Given the description of an element on the screen output the (x, y) to click on. 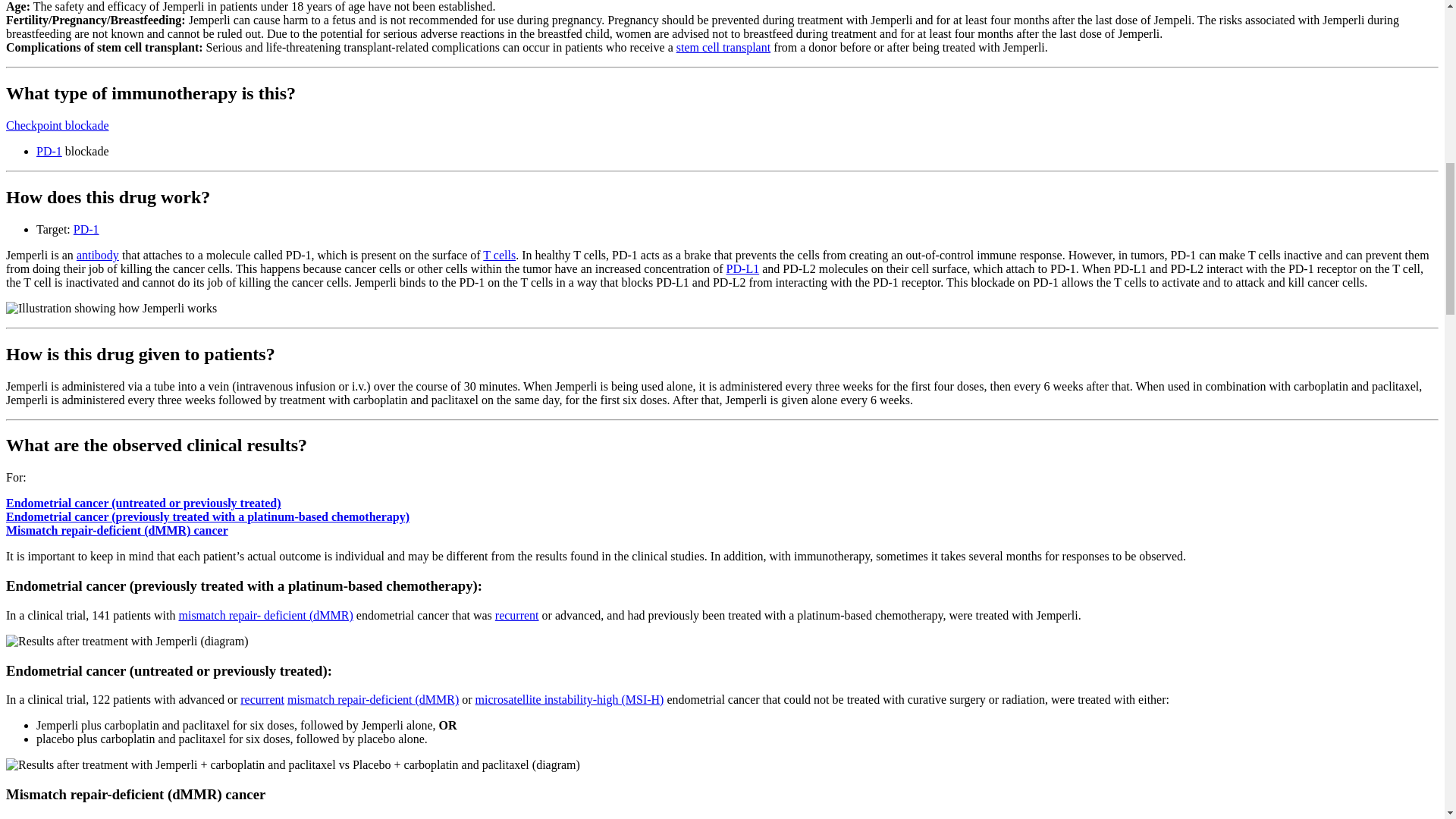
PD-L1 (743, 268)
antibody (98, 254)
stem cell transplant (723, 47)
T cells (499, 254)
PD-1 (86, 228)
Checkpoint blockade (57, 124)
Illustration showing how Jemperli works (110, 308)
PD-1 (49, 151)
